Given the description of an element on the screen output the (x, y) to click on. 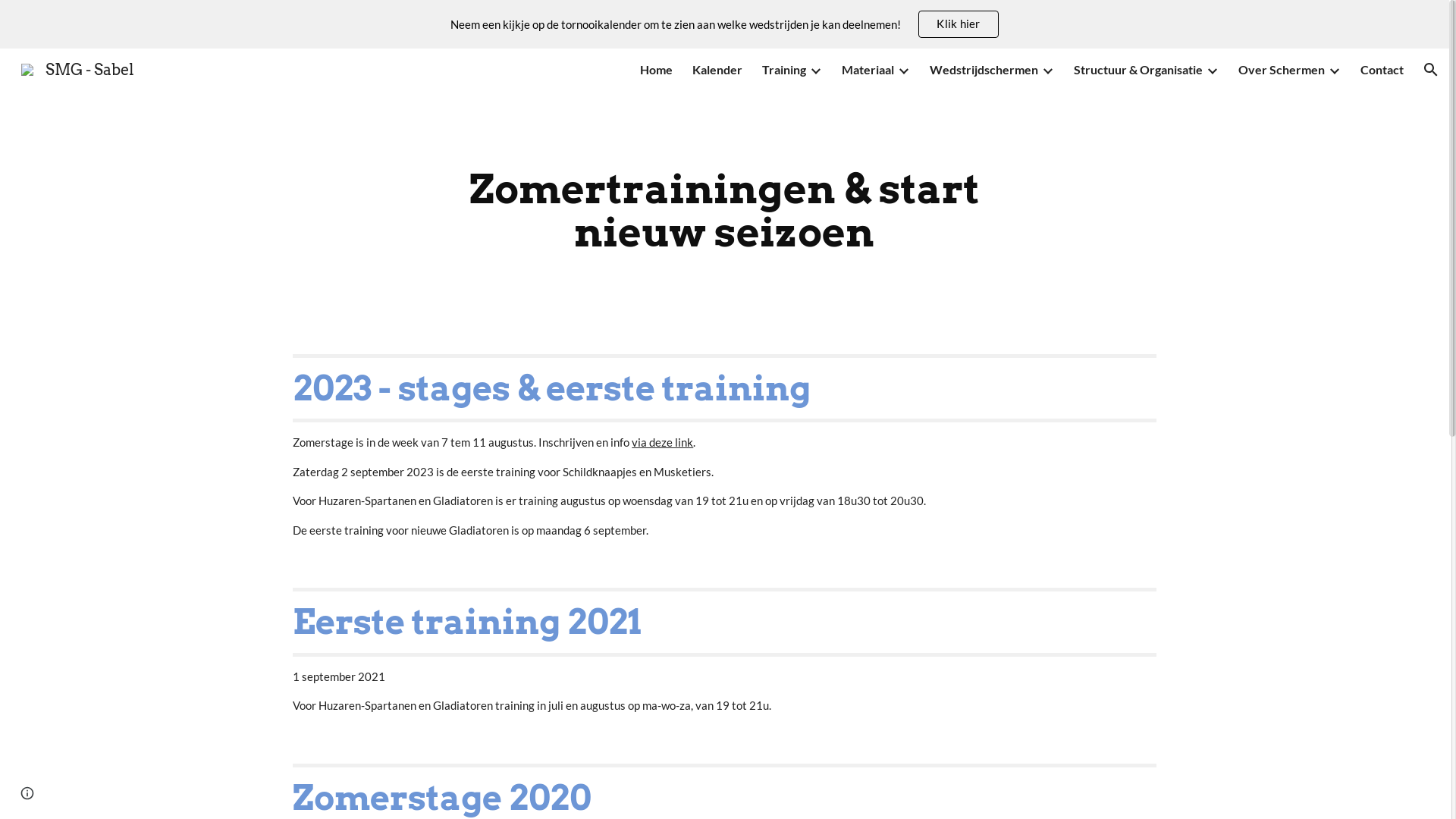
Home Element type: text (656, 69)
Expand/Collapse Element type: hover (1047, 69)
Expand/Collapse Element type: hover (903, 69)
Wedstrijdschermen Element type: text (983, 69)
Training Element type: text (784, 69)
Structuur & Organisatie Element type: text (1137, 69)
Expand/Collapse Element type: hover (1333, 69)
Contact Element type: text (1381, 69)
Expand/Collapse Element type: hover (1211, 69)
Klik hier Element type: text (958, 24)
Over Schermen Element type: text (1281, 69)
Kalender Element type: text (717, 69)
SMG - Sabel Element type: text (77, 68)
Expand/Collapse Element type: hover (815, 69)
via deze link Element type: text (662, 442)
Materiaal Element type: text (867, 69)
